Given the description of an element on the screen output the (x, y) to click on. 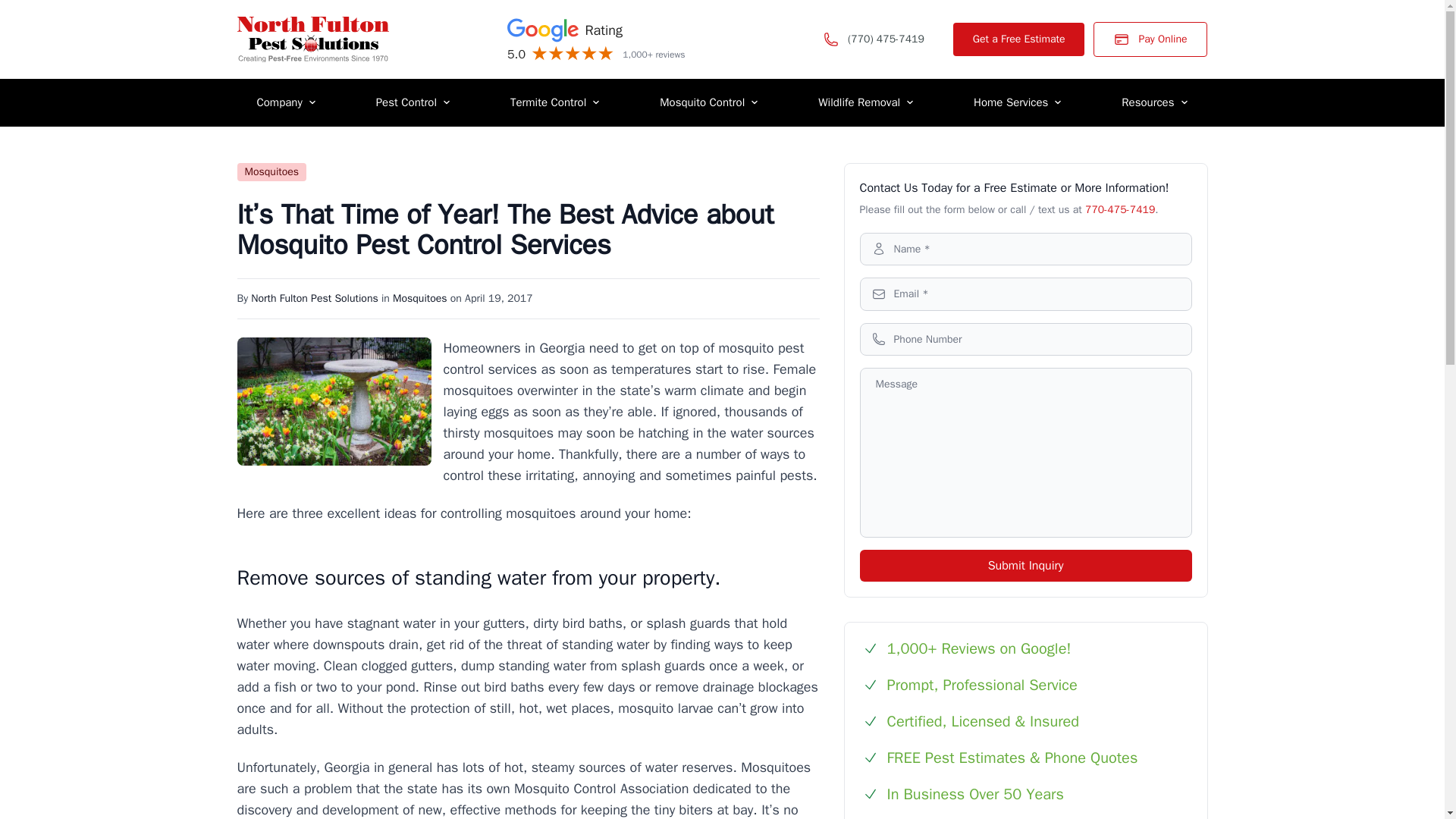
Home Services (1017, 102)
Pay Online (1150, 39)
770-475-7419 (1119, 209)
Termite Control (555, 102)
Mosquito Control (708, 102)
Mosquitoes (419, 297)
Company (284, 102)
North Fulton Pest Solutions (313, 297)
Get a Free Estimate (1018, 39)
Resources (1154, 102)
Pest Control (413, 102)
Submit Inquiry (1026, 565)
February 8th, 2022 (498, 297)
Wildlife Removal (865, 102)
